Given the description of an element on the screen output the (x, y) to click on. 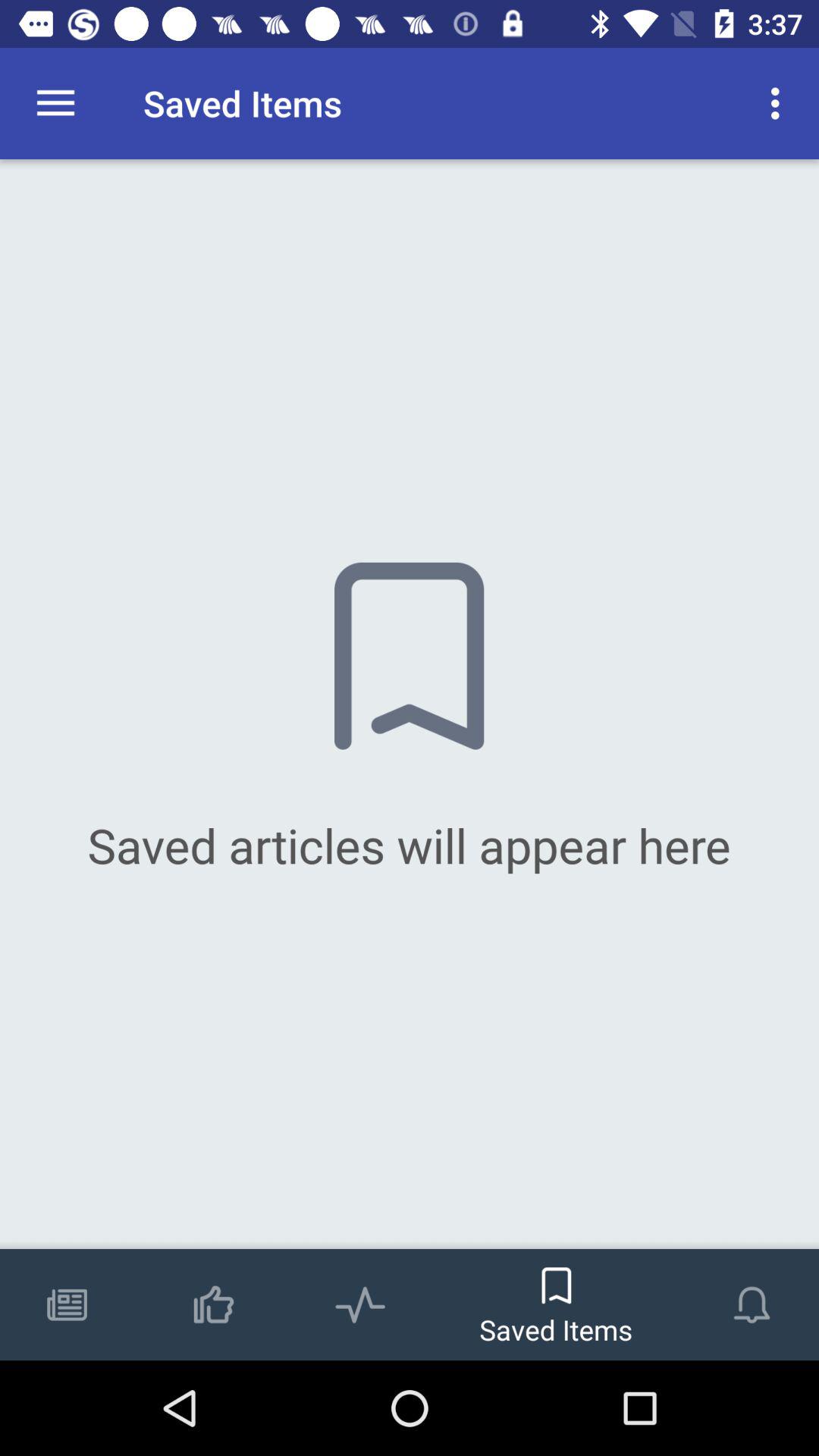
select the icon above text saved items (555, 1278)
click the icon which is on the left side of the saved items which is on the bottom of the page (359, 1289)
